Given the description of an element on the screen output the (x, y) to click on. 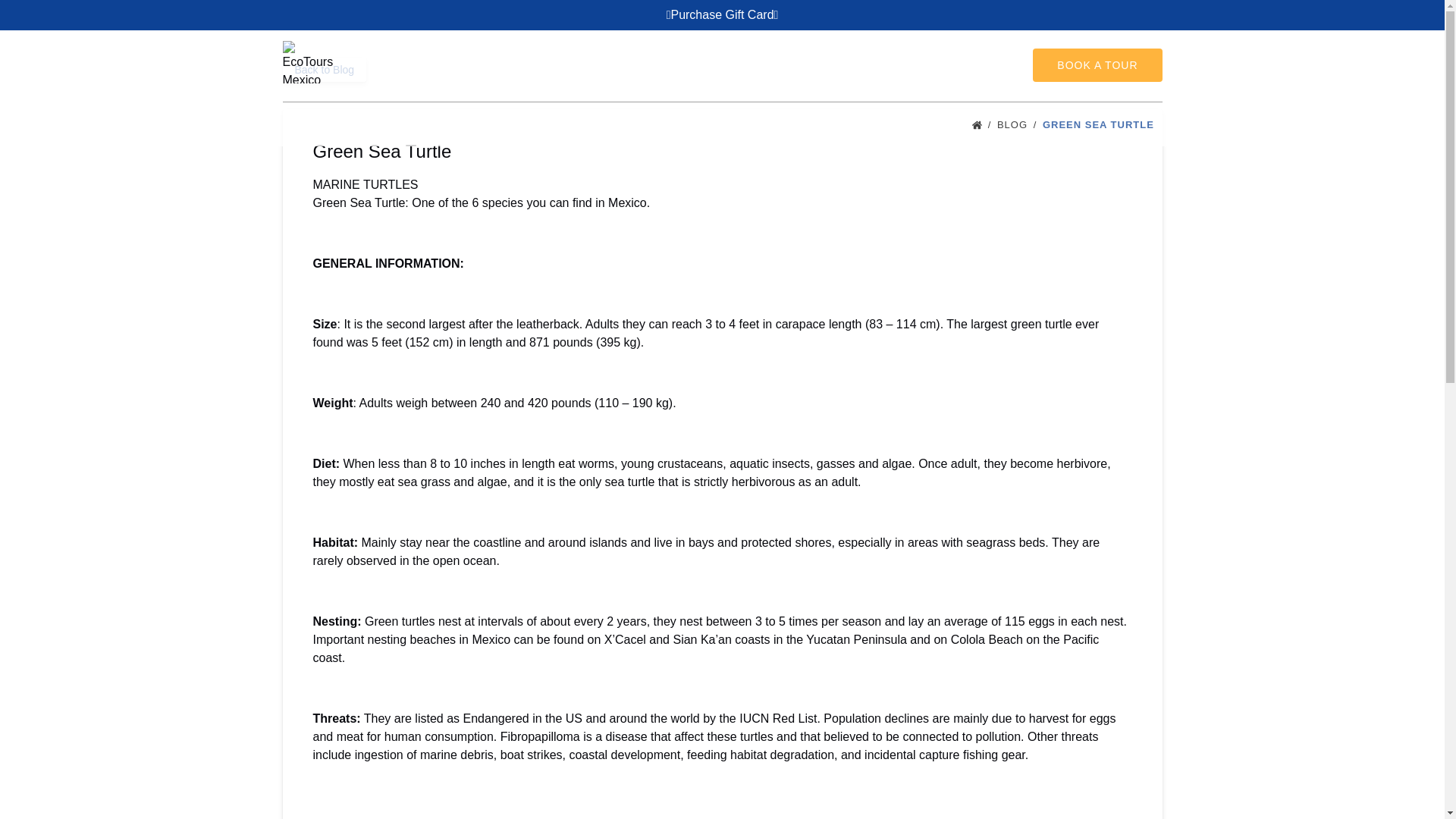
Skip to content (47, 16)
Skip to footer (42, 16)
BLOG (1018, 124)
Skip to primary navigation (77, 16)
GREEN SEA TURTLE (1101, 124)
BOOK A TOUR (1096, 64)
return to Blog (324, 69)
Back to Blog (324, 69)
